Given the description of an element on the screen output the (x, y) to click on. 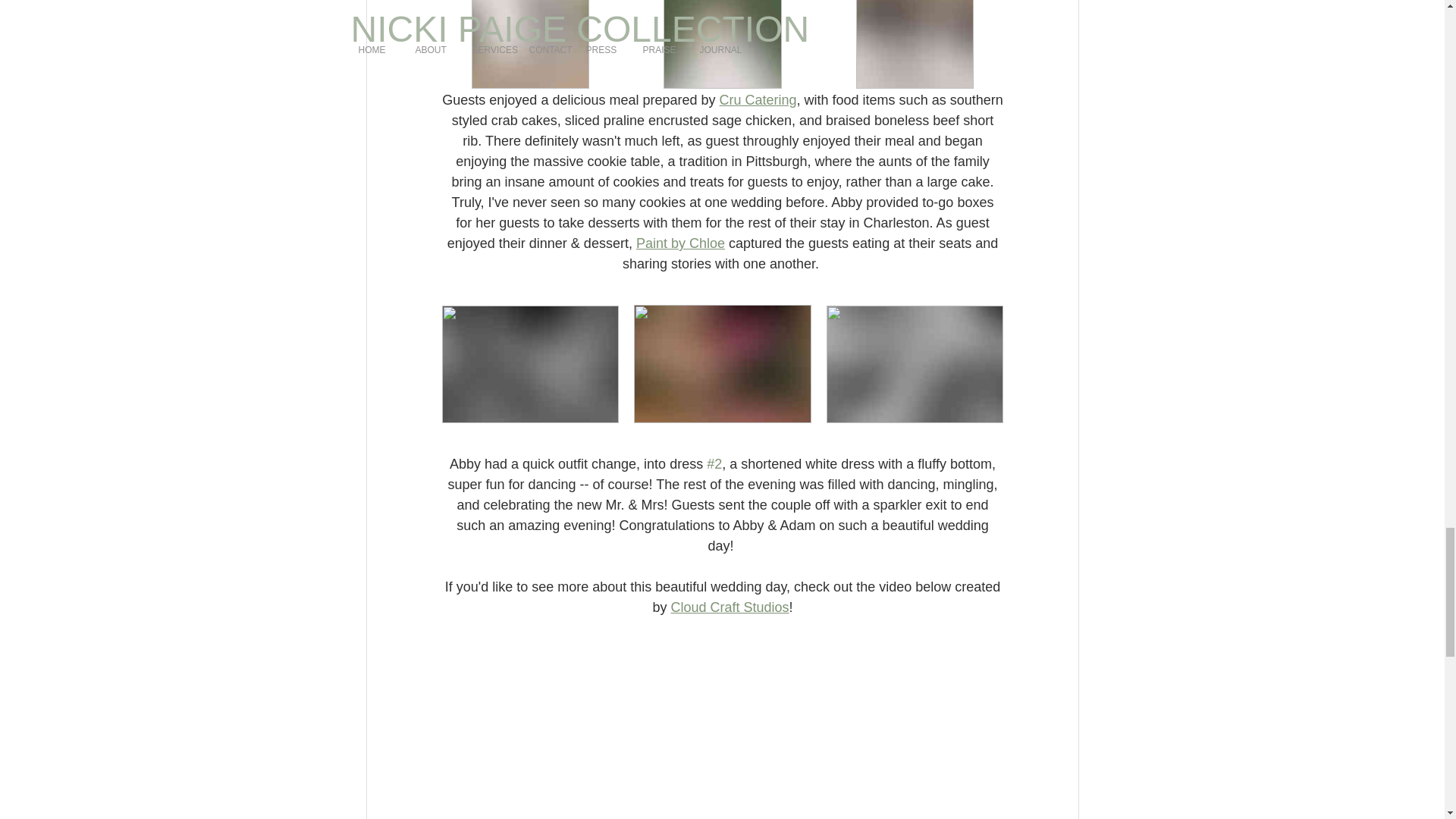
Paint by Chloe (678, 242)
Cloud Craft Studios (729, 607)
Cru Catering (757, 99)
